Given the description of an element on the screen output the (x, y) to click on. 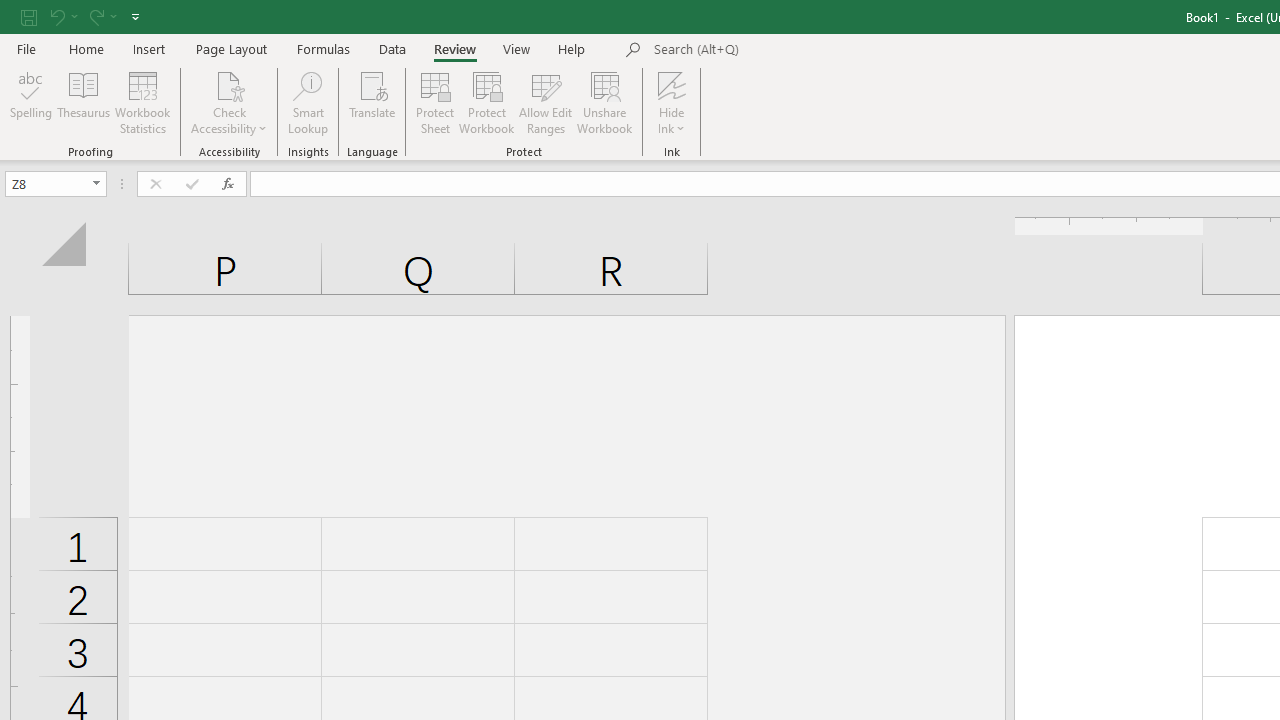
Hide Ink (671, 84)
Smart Lookup (308, 102)
Spelling... (31, 102)
Allow Edit Ranges (545, 102)
Translate (372, 102)
Microsoft search (792, 49)
Formulas (323, 48)
More Options (671, 121)
